Given the description of an element on the screen output the (x, y) to click on. 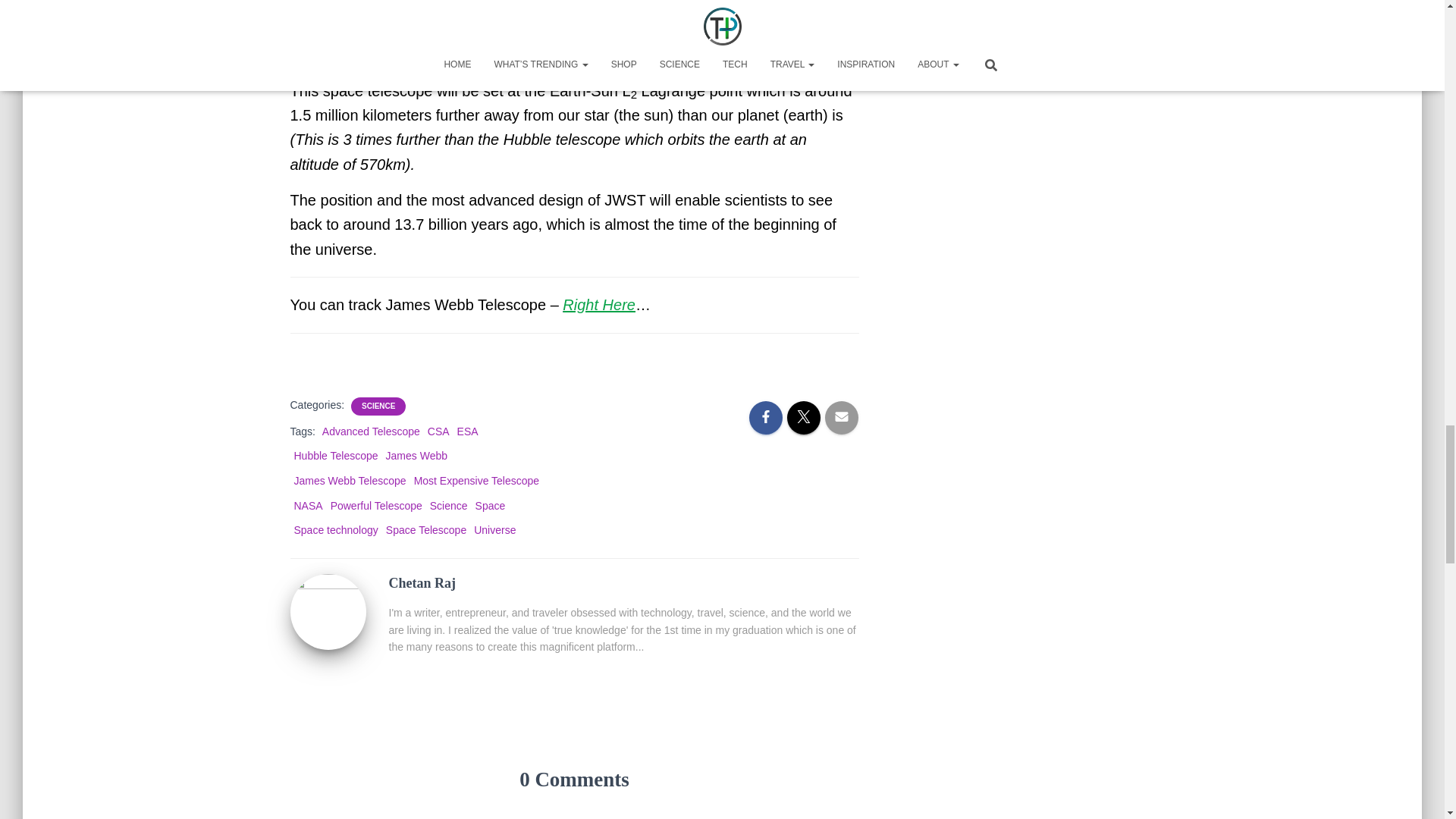
Powerful Telescope (376, 505)
Advanced Telescope (370, 431)
James Webb (415, 455)
Most Expensive Telescope (476, 480)
Chetan Raj (327, 611)
NASA (308, 505)
SCIENCE (377, 406)
Right Here (598, 304)
Hubble Telescope (336, 455)
James Webb Telescope (350, 480)
CSA (438, 431)
ESA (468, 431)
